Given the description of an element on the screen output the (x, y) to click on. 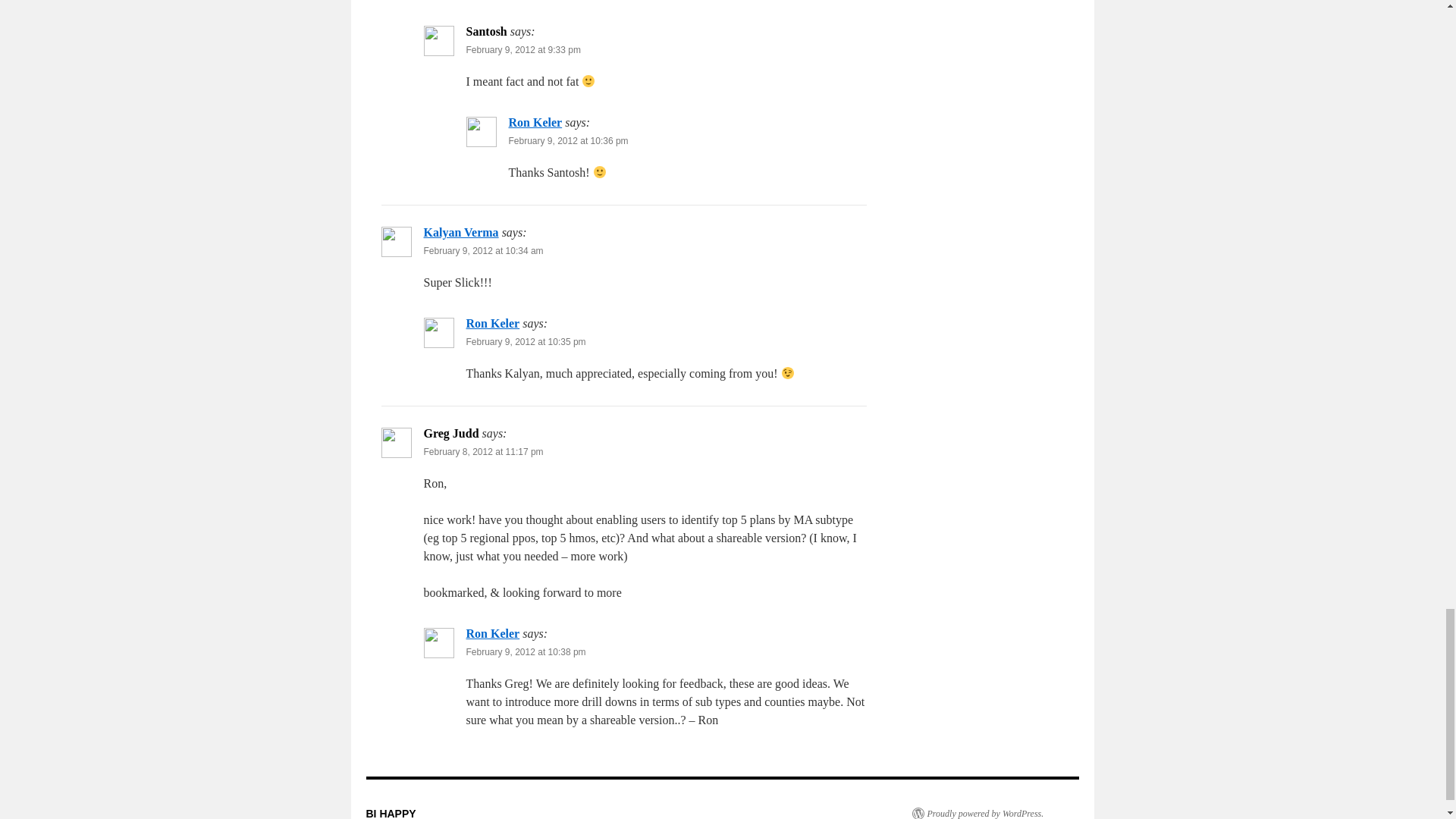
Ron Keler (535, 122)
February 9, 2012 at 9:33 pm (522, 50)
